Given the description of an element on the screen output the (x, y) to click on. 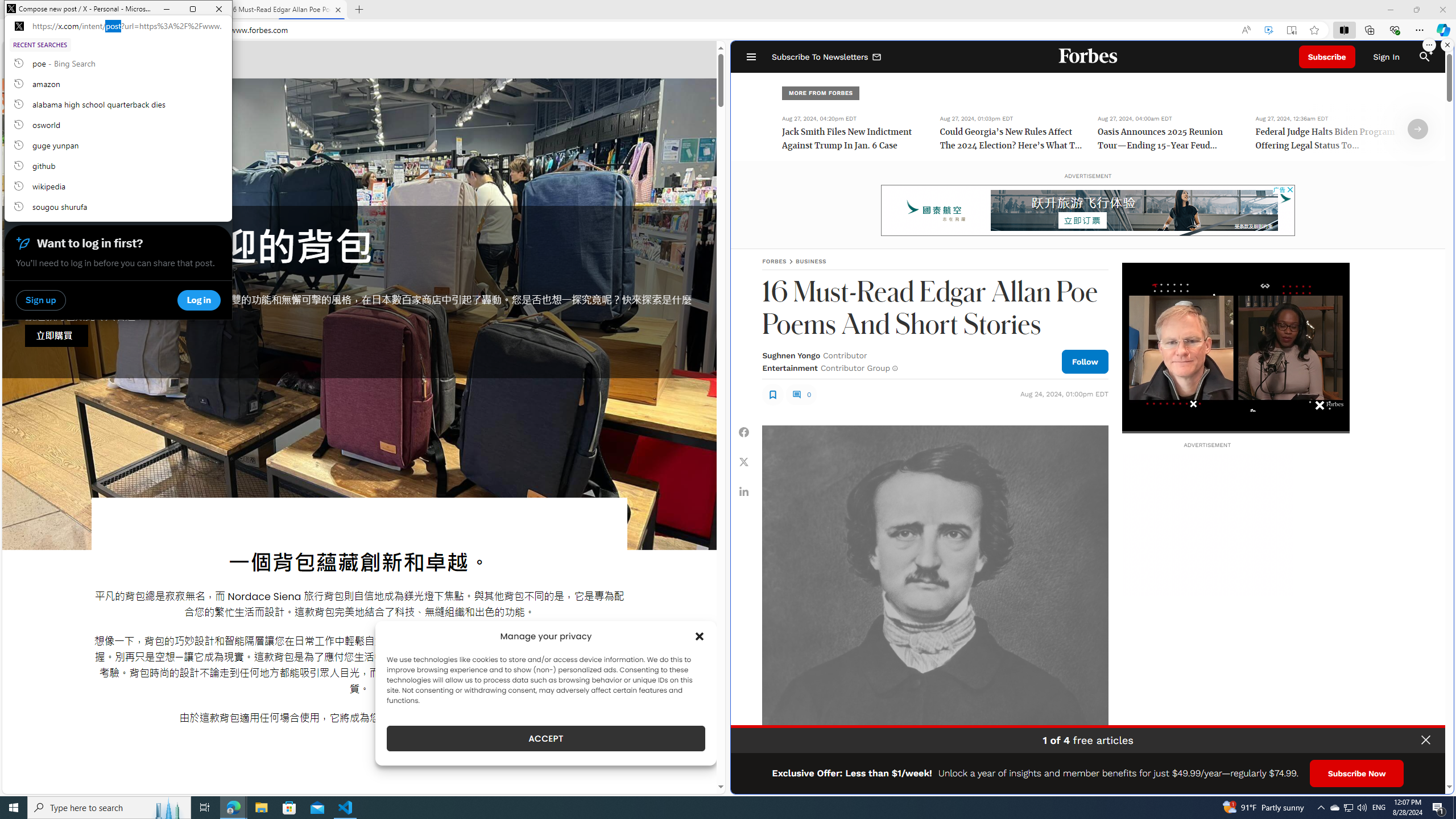
Class: envelope_svg__fs-icon envelope_svg__fs-icon--envelope (877, 57)
ACCEPT (545, 738)
Maximize (192, 9)
Seek (1235, 431)
